Given the description of an element on the screen output the (x, y) to click on. 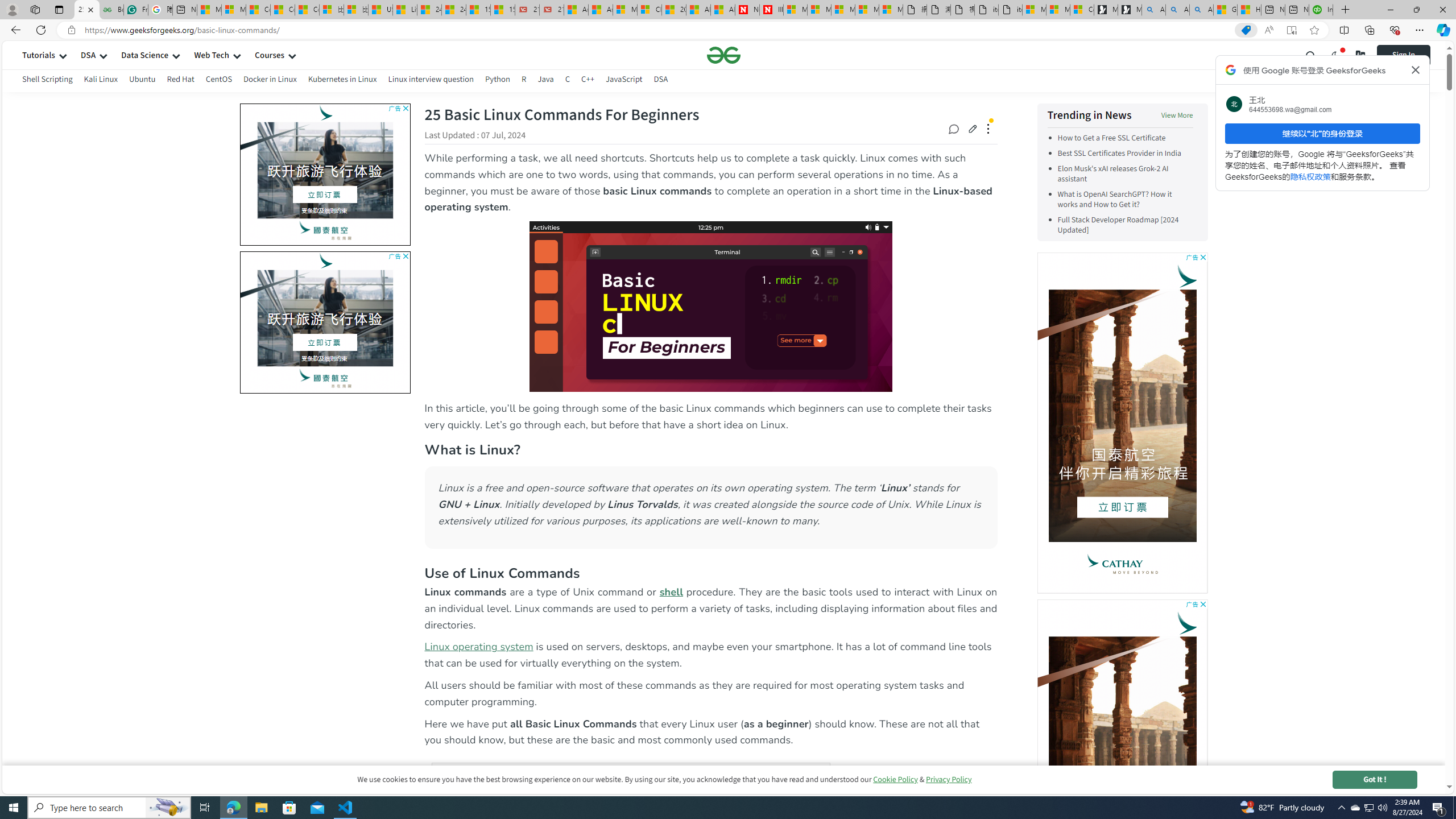
AutomationID: cbb (1202, 604)
Intuit QuickBooks Online - Quickbooks (1321, 9)
Consumer Health Data Privacy Policy (1082, 9)
Java (545, 80)
Cloud Computing Services | Microsoft Azure (648, 9)
shell (671, 591)
Kubernetes in Linux (341, 80)
Linux interview question (430, 80)
AutomationID: tag (325, 321)
How to Use a TV as a Computer Monitor (1248, 9)
C++ (587, 80)
